Given the description of an element on the screen output the (x, y) to click on. 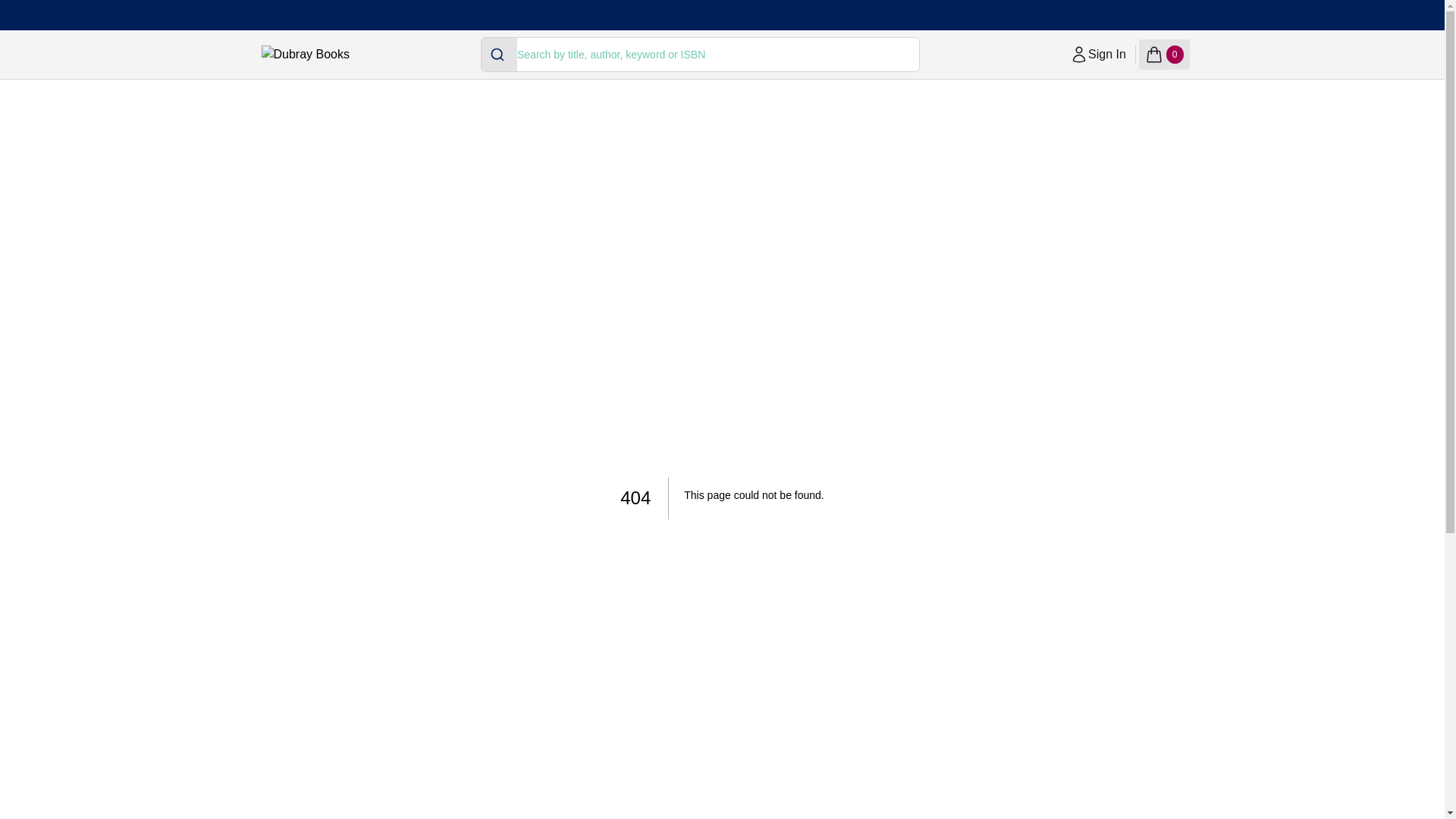
Submit (1163, 54)
Dubray Books (498, 54)
